Given the description of an element on the screen output the (x, y) to click on. 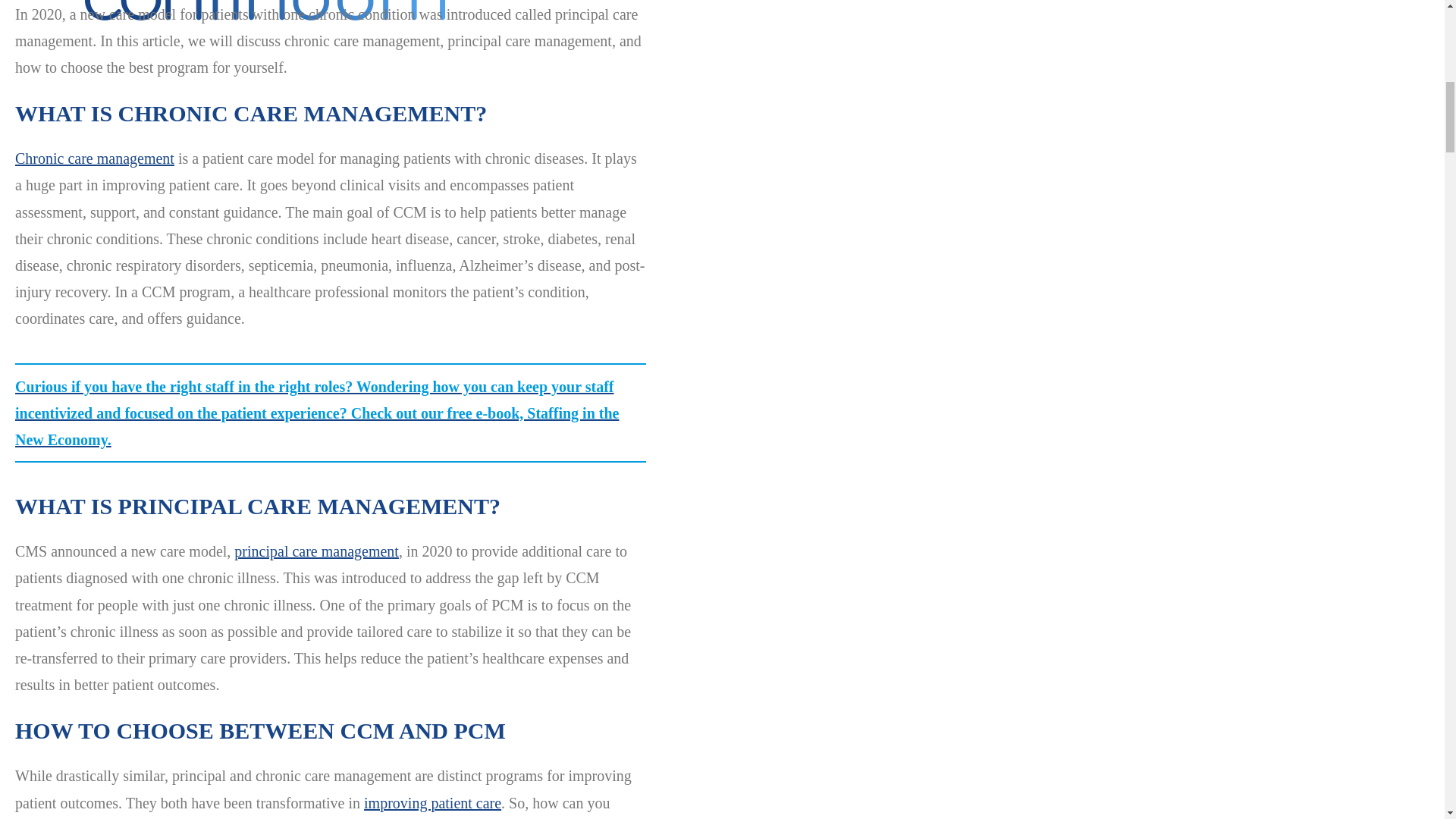
Chronic care management (94, 158)
principal care management (316, 550)
improving patient care (432, 802)
Continuum (379, 37)
Brought to you by CareCloud (264, 33)
